Given the description of an element on the screen output the (x, y) to click on. 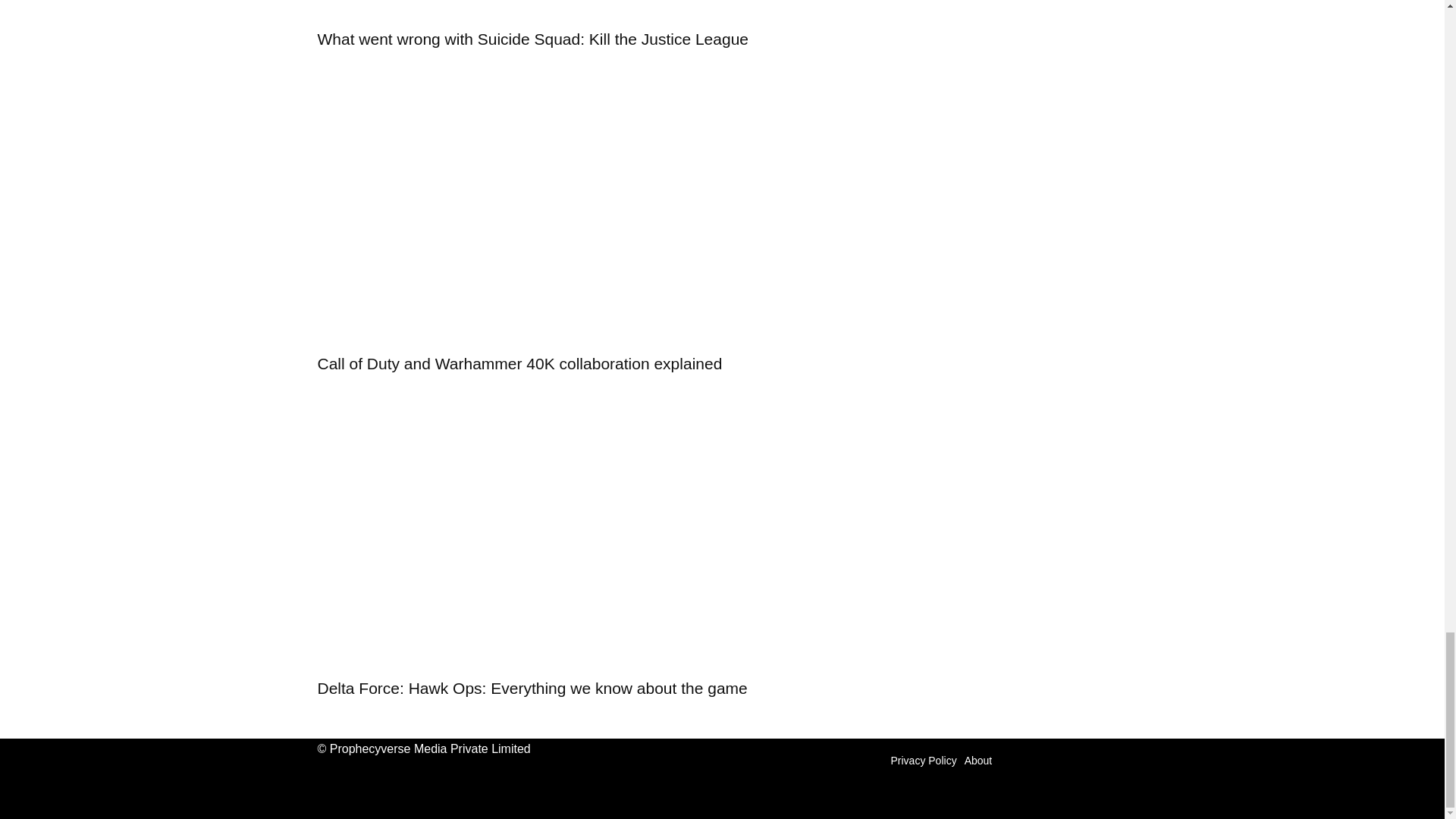
What went wrong with Suicide Squad: Kill the Justice League (532, 38)
Call of Duty and Warhammer 40K collaboration explained (519, 363)
What went wrong with Suicide Squad: Kill the Justice League (532, 38)
Privacy Policy (922, 760)
About (977, 760)
Delta Force: Hawk Ops: Everything we know about the game (531, 687)
What went wrong with Suicide Squad: Kill the Justice League (580, 9)
